Given the description of an element on the screen output the (x, y) to click on. 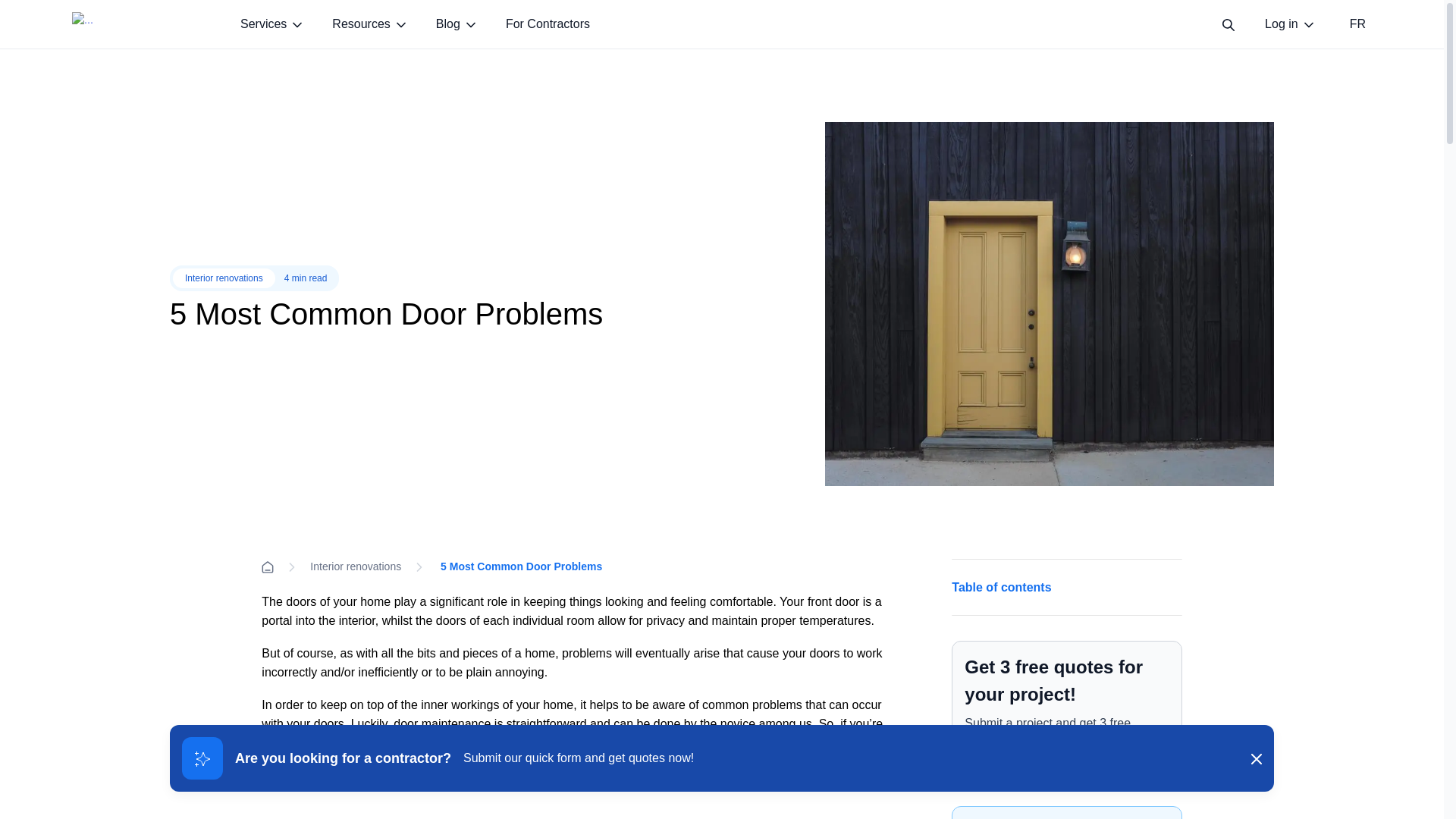
Blog (455, 23)
For Contractors (547, 23)
Resources (368, 23)
Log in (1288, 23)
Services (271, 23)
